Given the description of an element on the screen output the (x, y) to click on. 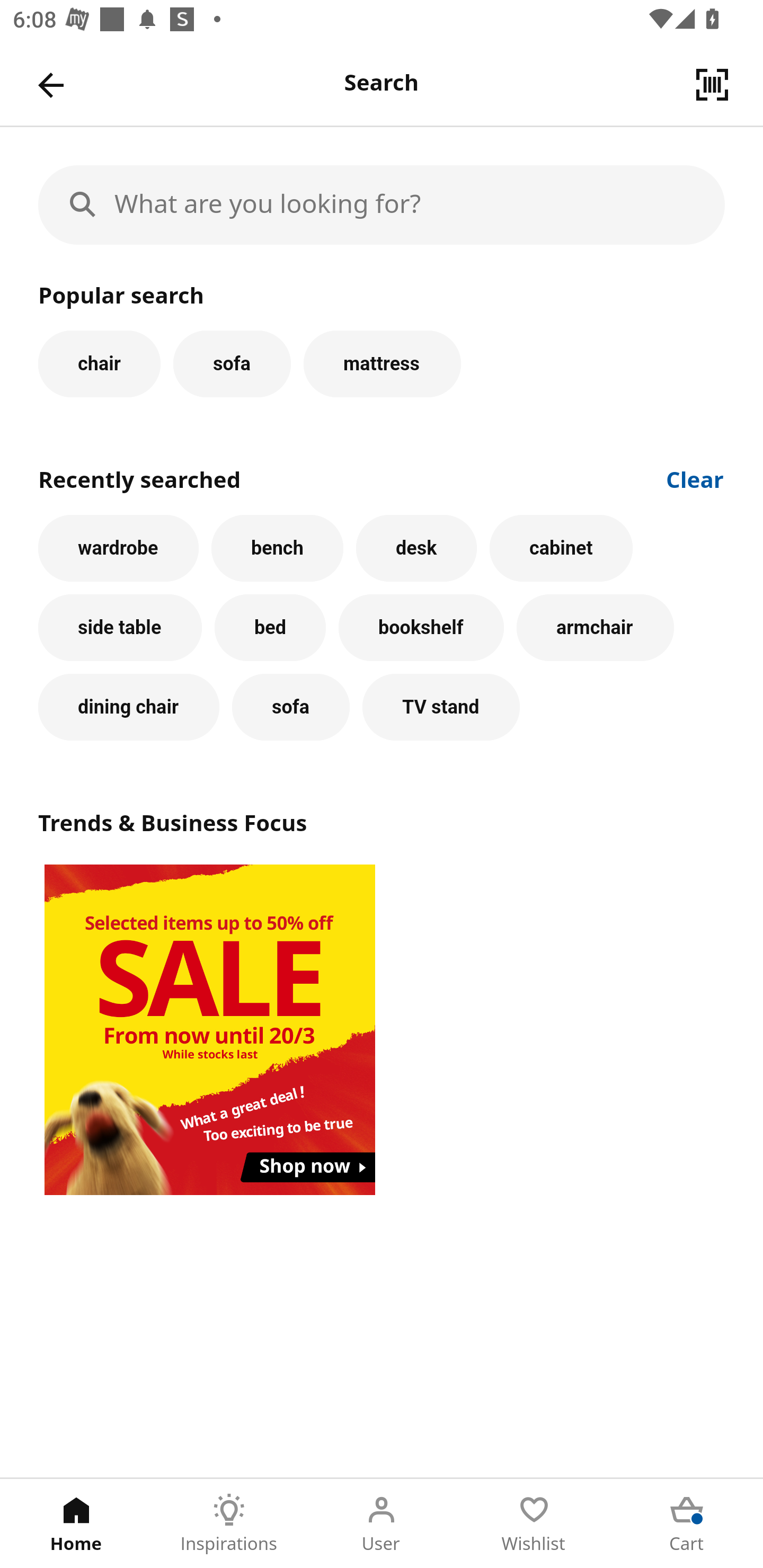
chair (99, 363)
sofa (231, 363)
mattress (381, 363)
Clear (695, 477)
wardrobe (118, 547)
bench (277, 547)
desk (416, 547)
cabinet (560, 547)
side table (120, 627)
bed (269, 627)
bookshelf (420, 627)
armchair (594, 627)
dining chair (128, 707)
sofa (290, 707)
TV stand (440, 707)
Home
Tab 1 of 5 (76, 1522)
Inspirations
Tab 2 of 5 (228, 1522)
User
Tab 3 of 5 (381, 1522)
Wishlist
Tab 4 of 5 (533, 1522)
Cart
Tab 5 of 5 (686, 1522)
